Given the description of an element on the screen output the (x, y) to click on. 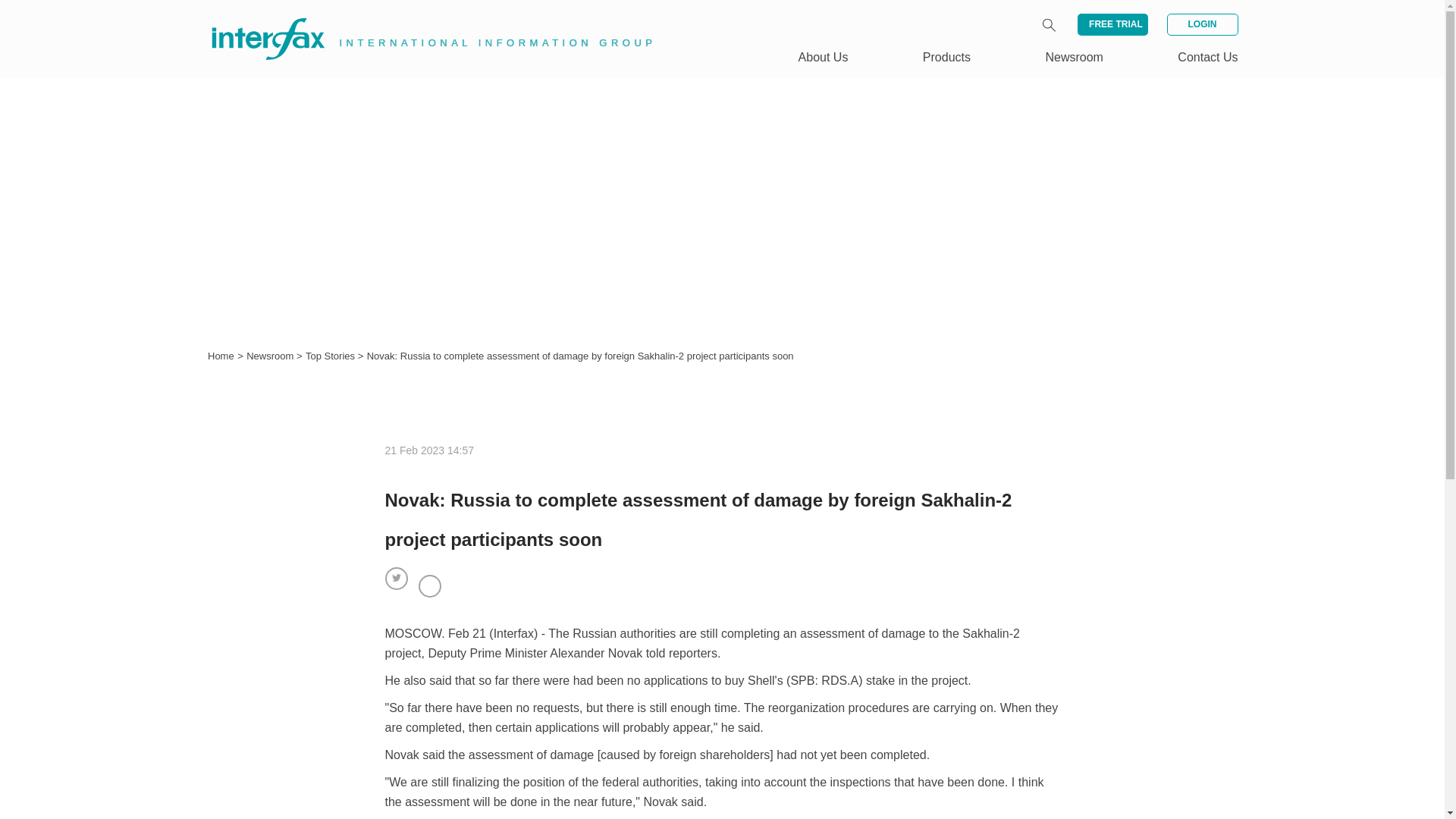
LOGIN (1201, 24)
Newsroom (1073, 56)
Contact Us (1207, 56)
FREE TRIAL (1112, 24)
Products (947, 56)
Top Stories (331, 355)
Home (221, 355)
About Us (822, 56)
INTERNATIONAL INFORMATION GROUP (421, 20)
Newsroom (271, 355)
Newsroom (271, 355)
Contact Us (1207, 56)
